Given the description of an element on the screen output the (x, y) to click on. 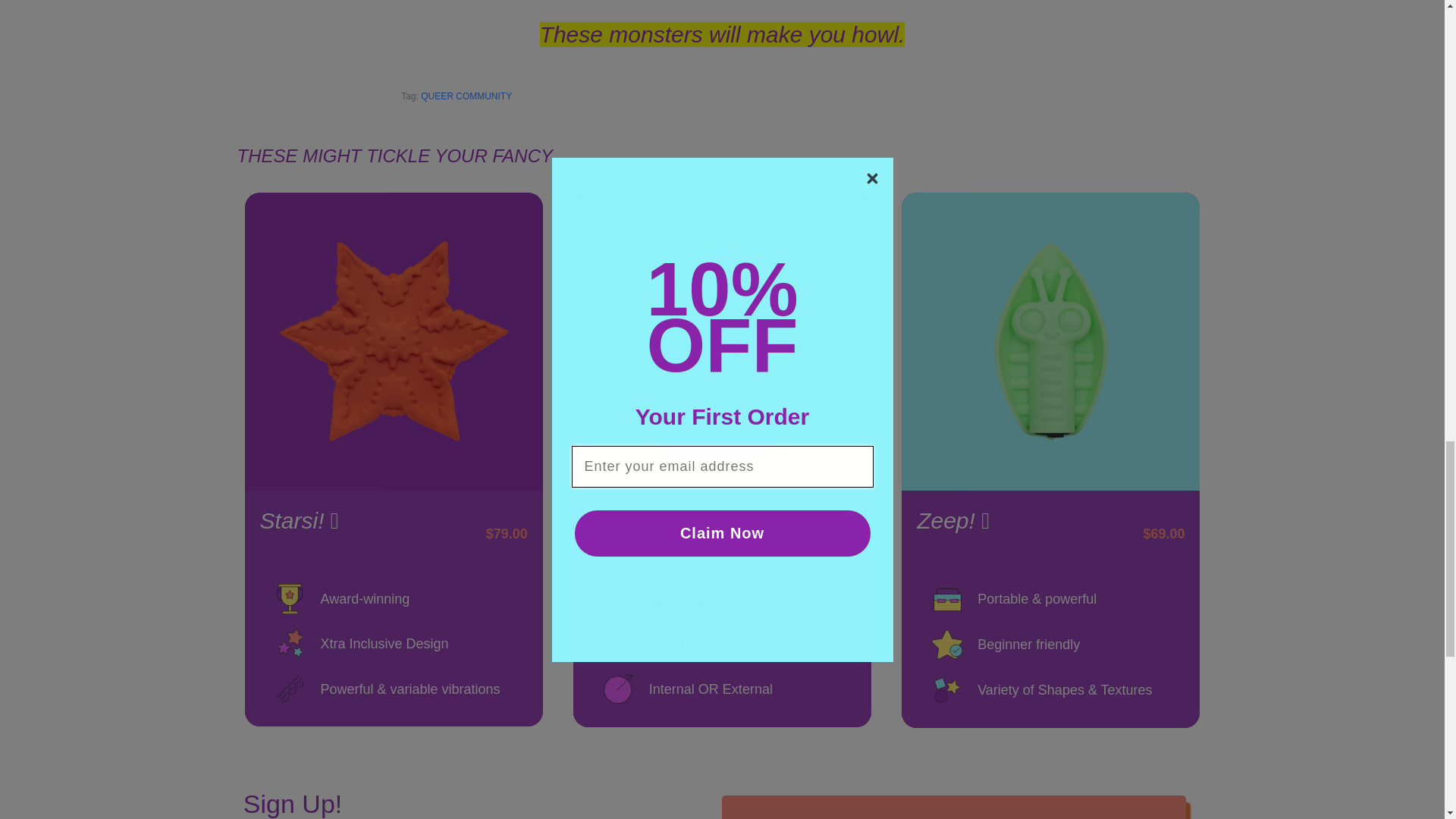
Show articles tagged queer community (466, 95)
SHOW ALL (394, 155)
